Given the description of an element on the screen output the (x, y) to click on. 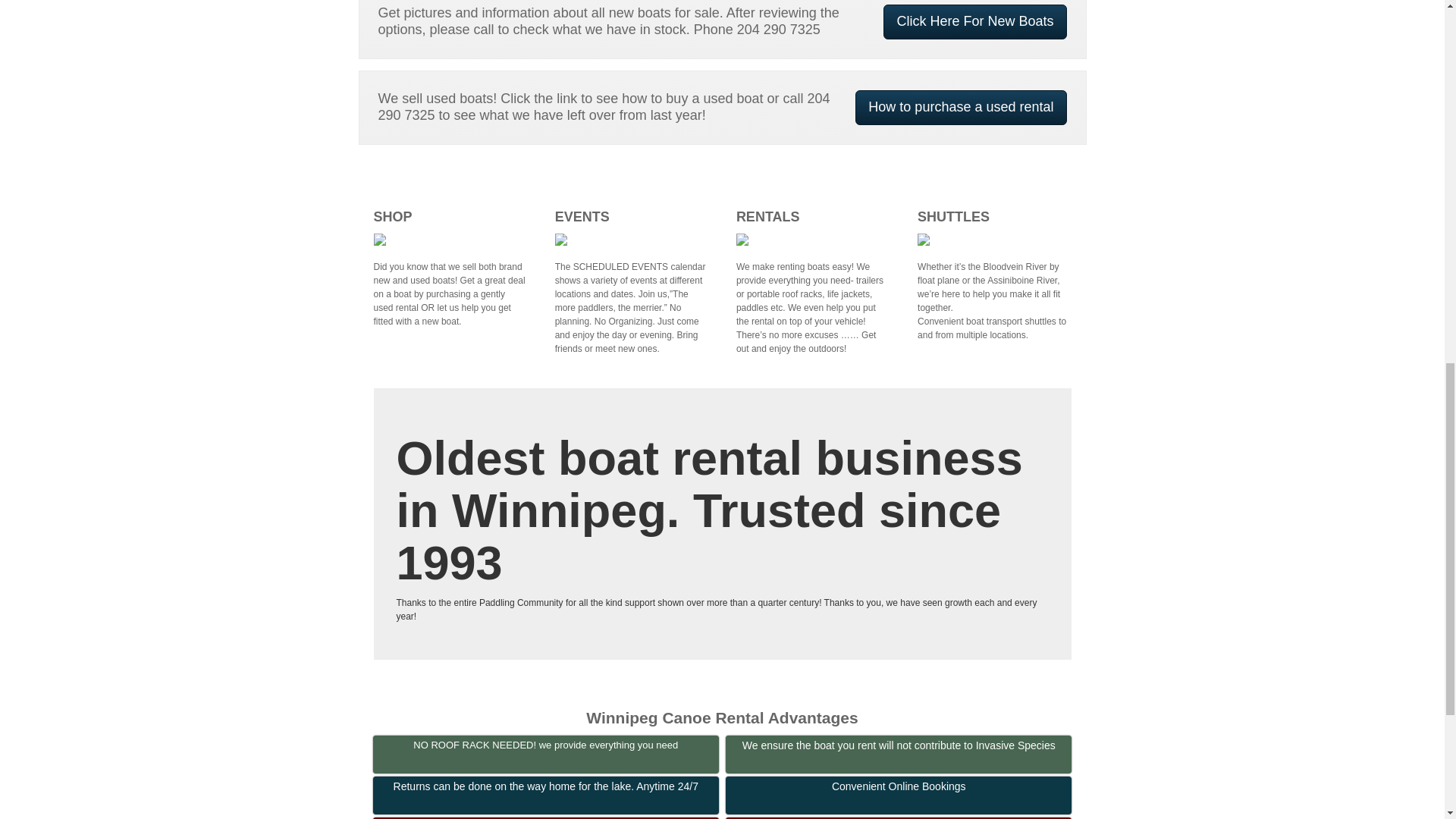
How to purchase a used rental (960, 107)
Click Here For New Boats (974, 21)
How to purchase a used rental (960, 107)
Click Here For New Boats (974, 21)
